Given the description of an element on the screen output the (x, y) to click on. 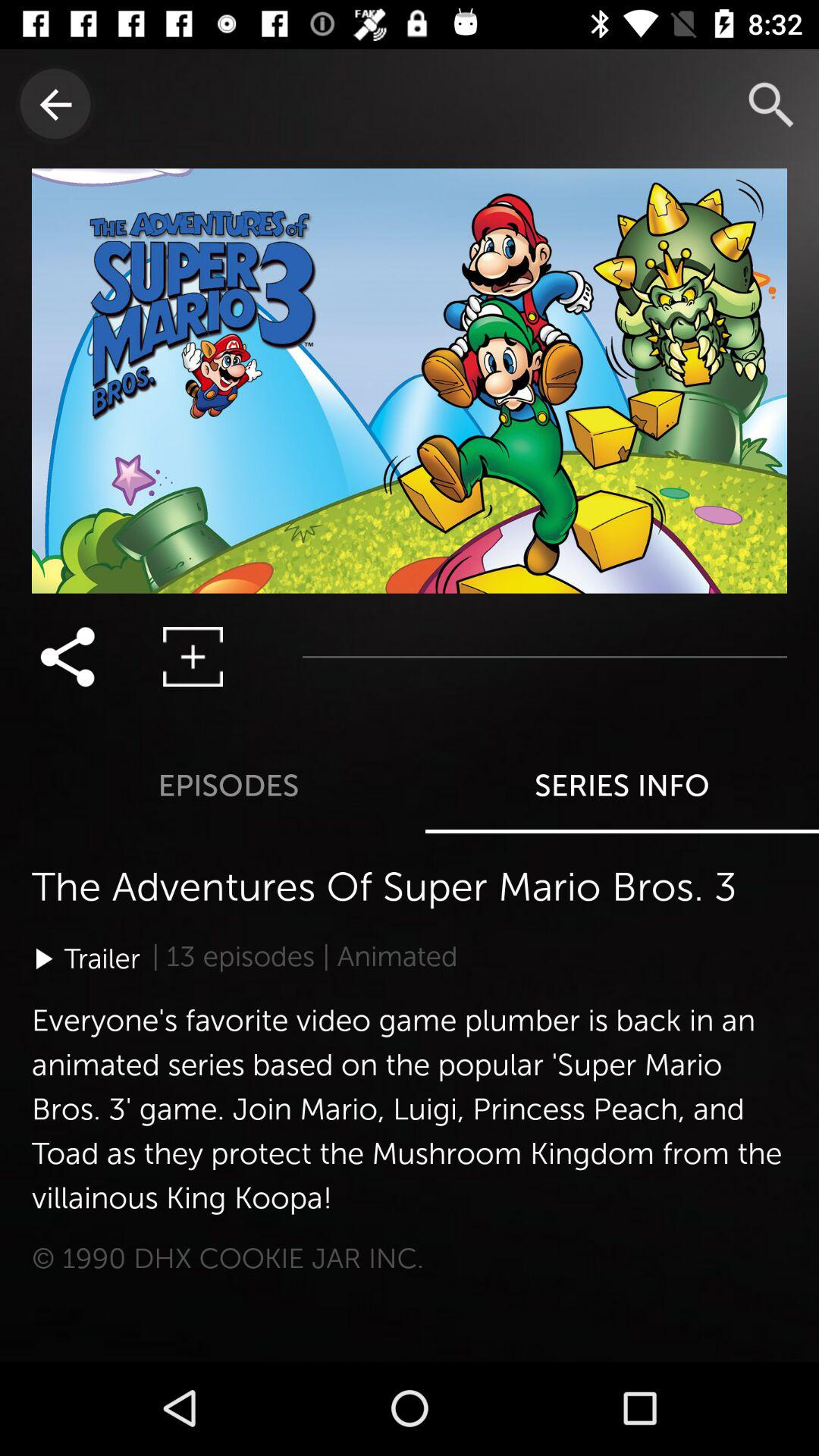
select the series info option (669, 733)
click on search button in top (771, 103)
